Given the description of an element on the screen output the (x, y) to click on. 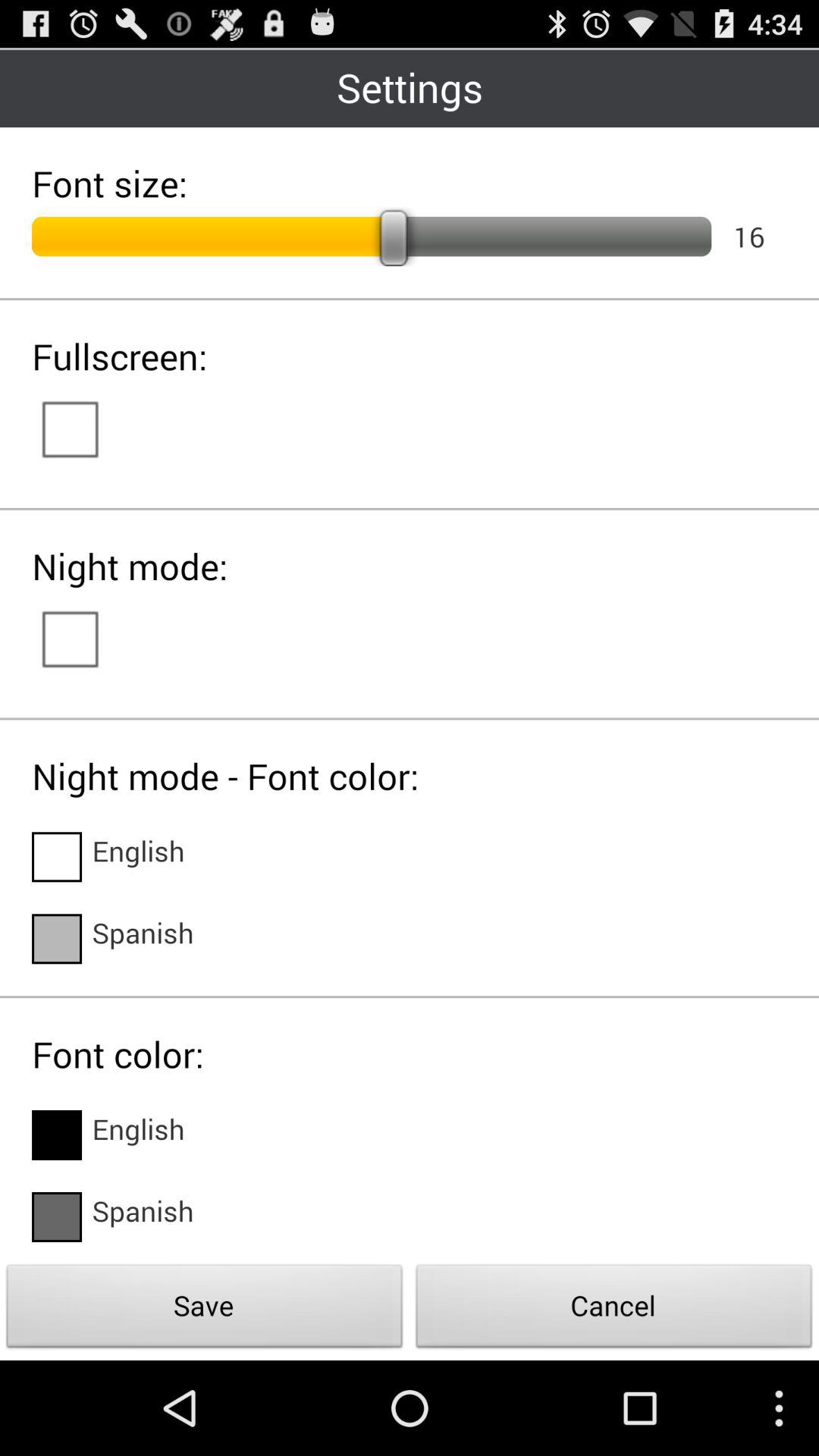
language option (56, 857)
